Given the description of an element on the screen output the (x, y) to click on. 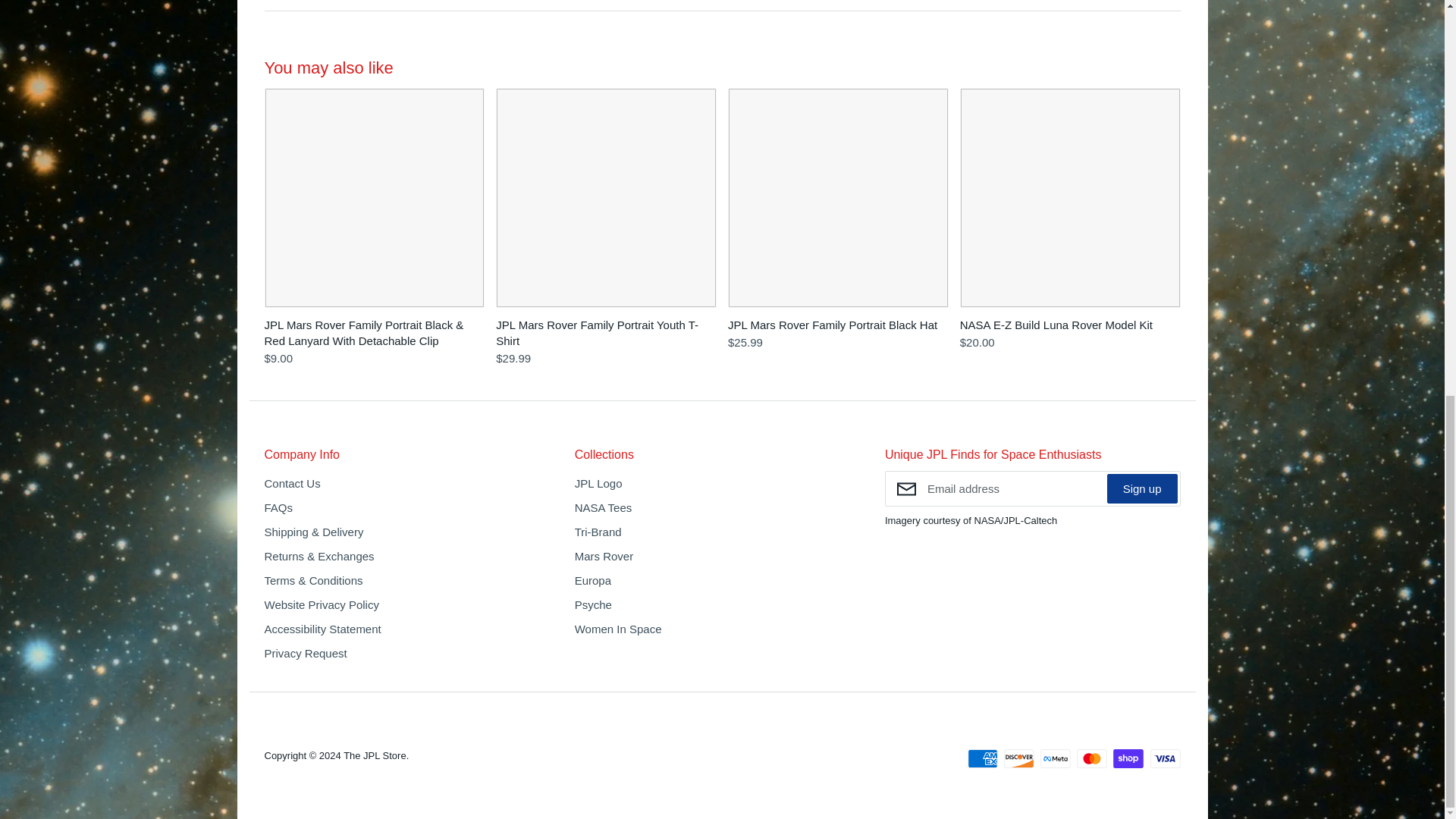
American Express (982, 758)
Discover (1018, 758)
Shop Pay (1127, 758)
Meta Pay (1055, 758)
Mastercard (1091, 758)
Visa (1164, 758)
